Given the description of an element on the screen output the (x, y) to click on. 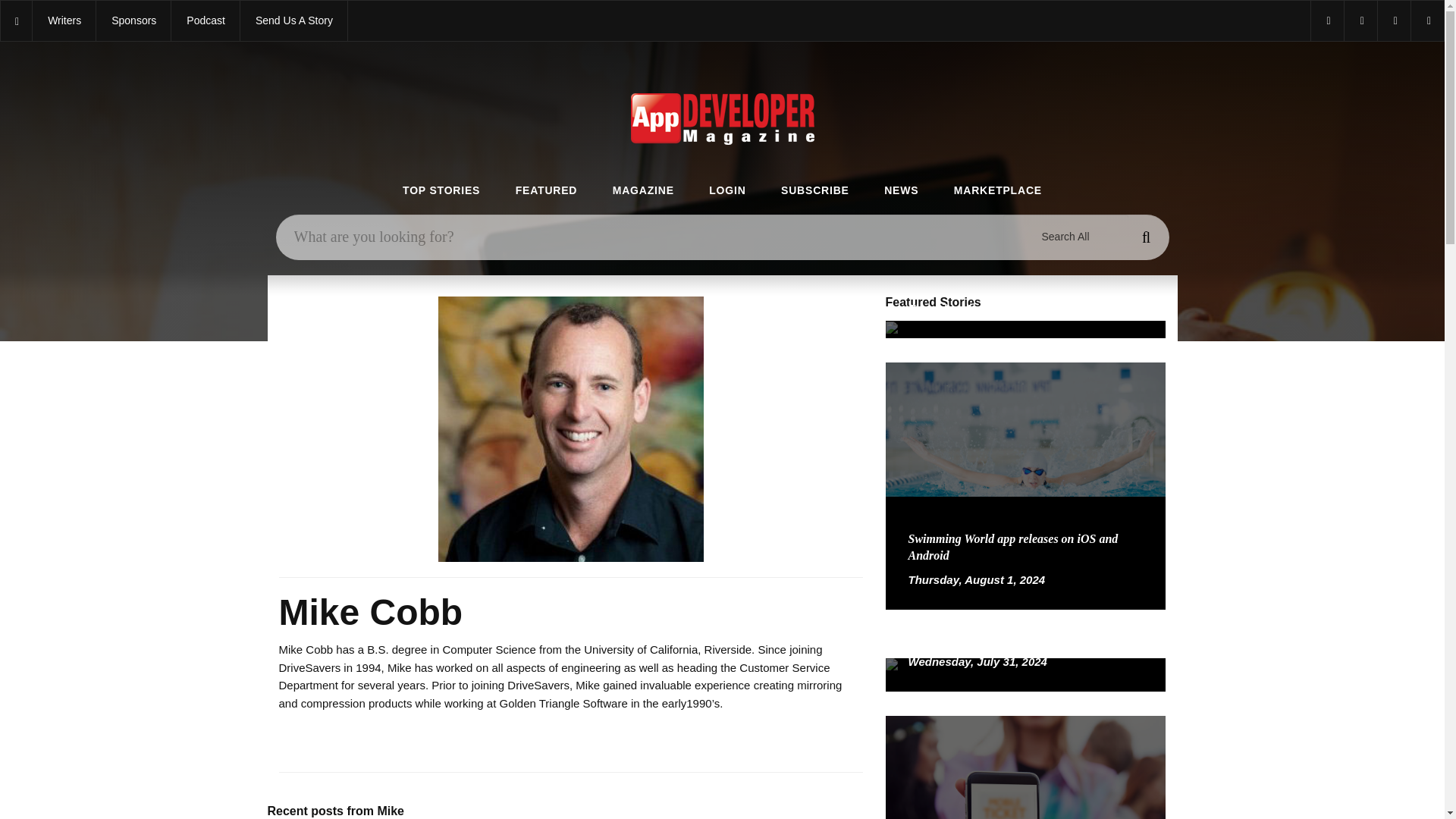
App Developer Magazine Sponsors (133, 20)
LOGIN (727, 190)
MAGAZINE (643, 190)
App Developer Magazine (205, 20)
Send Us A Story (293, 20)
Submit App News or Press Release (293, 20)
FEATURED (546, 190)
NEWS (900, 190)
Podcast (205, 20)
Sponsors (133, 20)
Writers (64, 20)
SUBSCRIBE (814, 190)
TOP STORIES (441, 190)
Our Writers (64, 20)
